Given the description of an element on the screen output the (x, y) to click on. 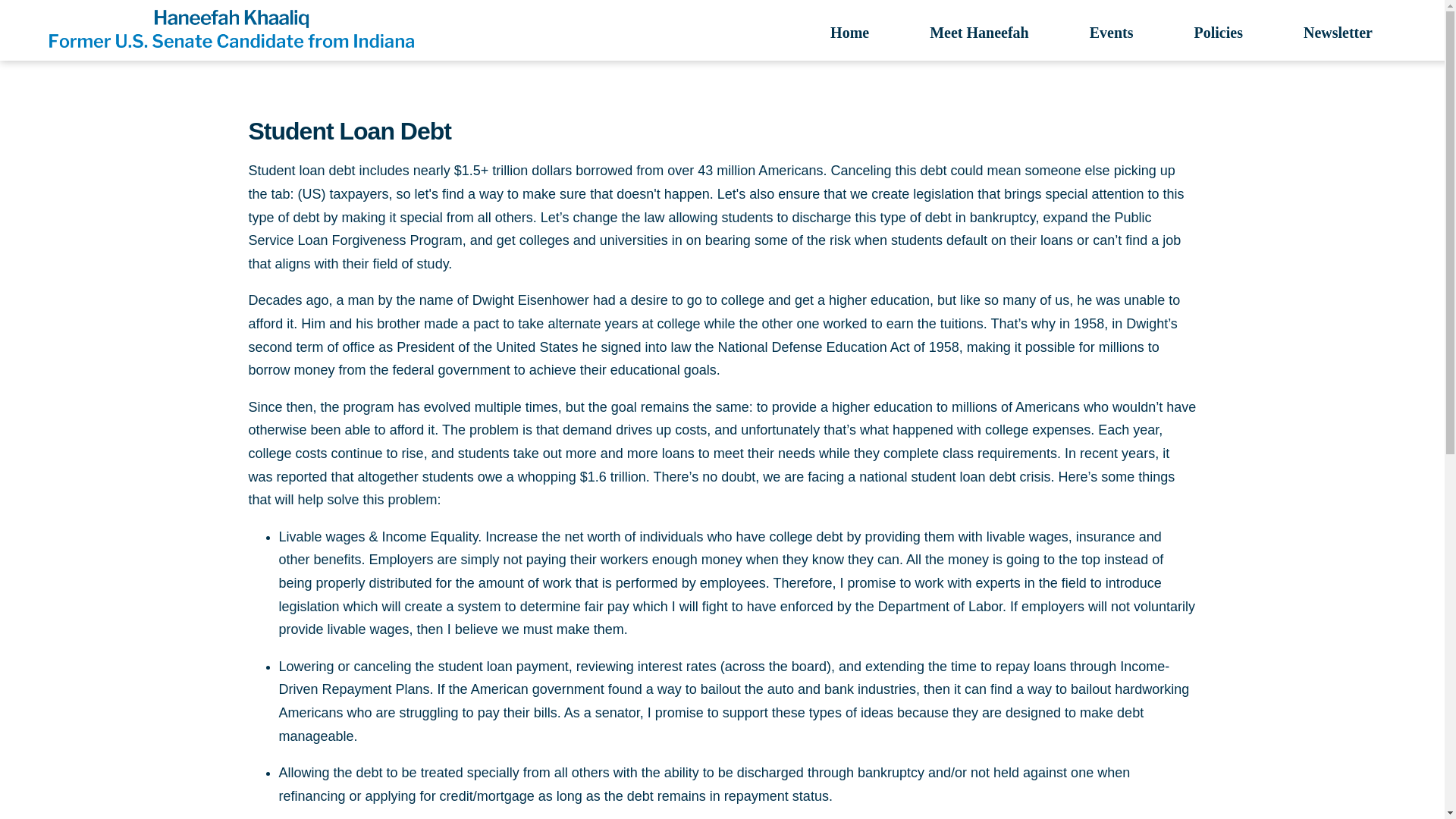
Meet Haneefah (979, 31)
Policies (1217, 31)
Home (849, 31)
Events (1111, 31)
Newsletter (1337, 31)
